Given the description of an element on the screen output the (x, y) to click on. 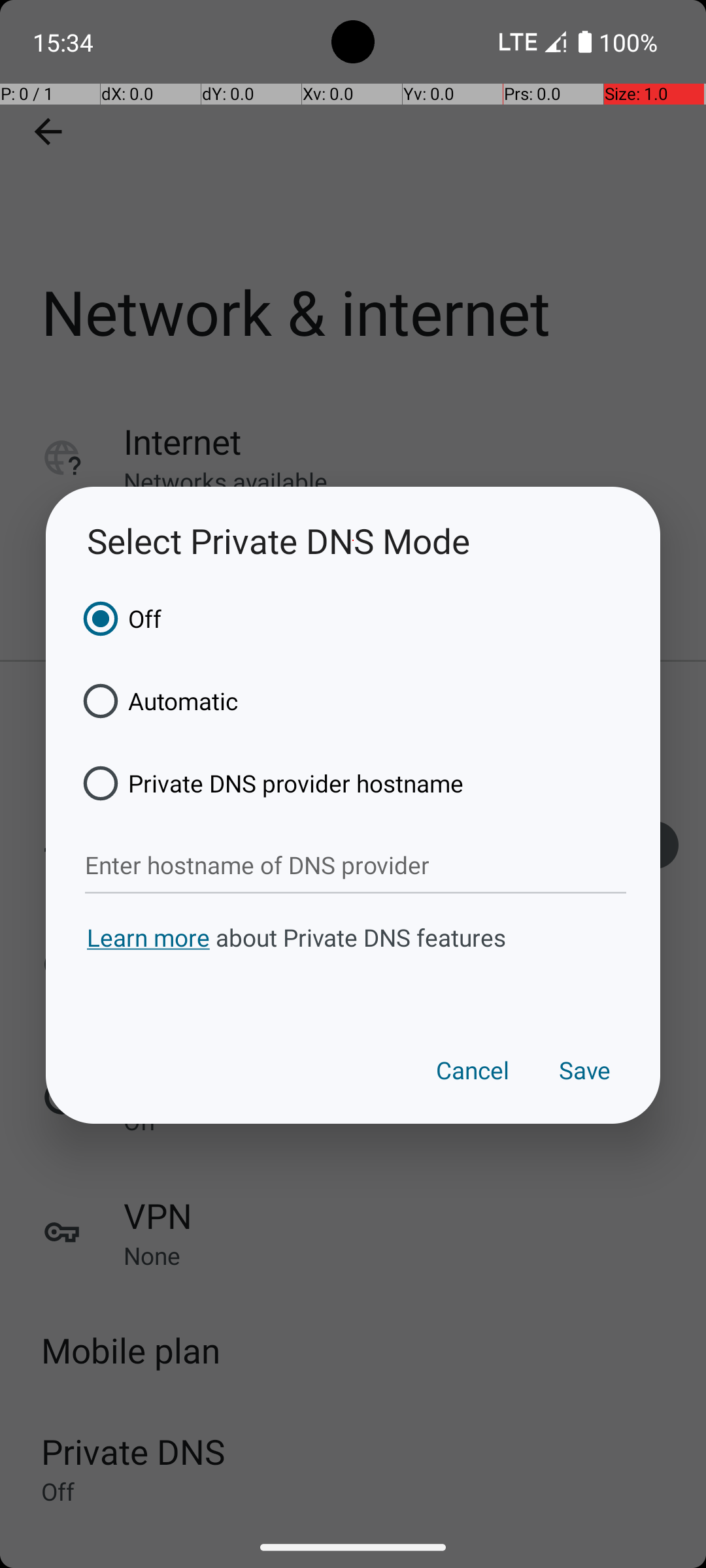
Select Private DNS Mode Element type: android.widget.TextView (352, 540)
Learn more about Private DNS features Element type: android.widget.TextView (352, 961)
Private DNS provider hostname Element type: android.widget.RadioButton (268, 783)
Enter hostname of DNS provider Element type: android.widget.EditText (355, 865)
